Given the description of an element on the screen output the (x, y) to click on. 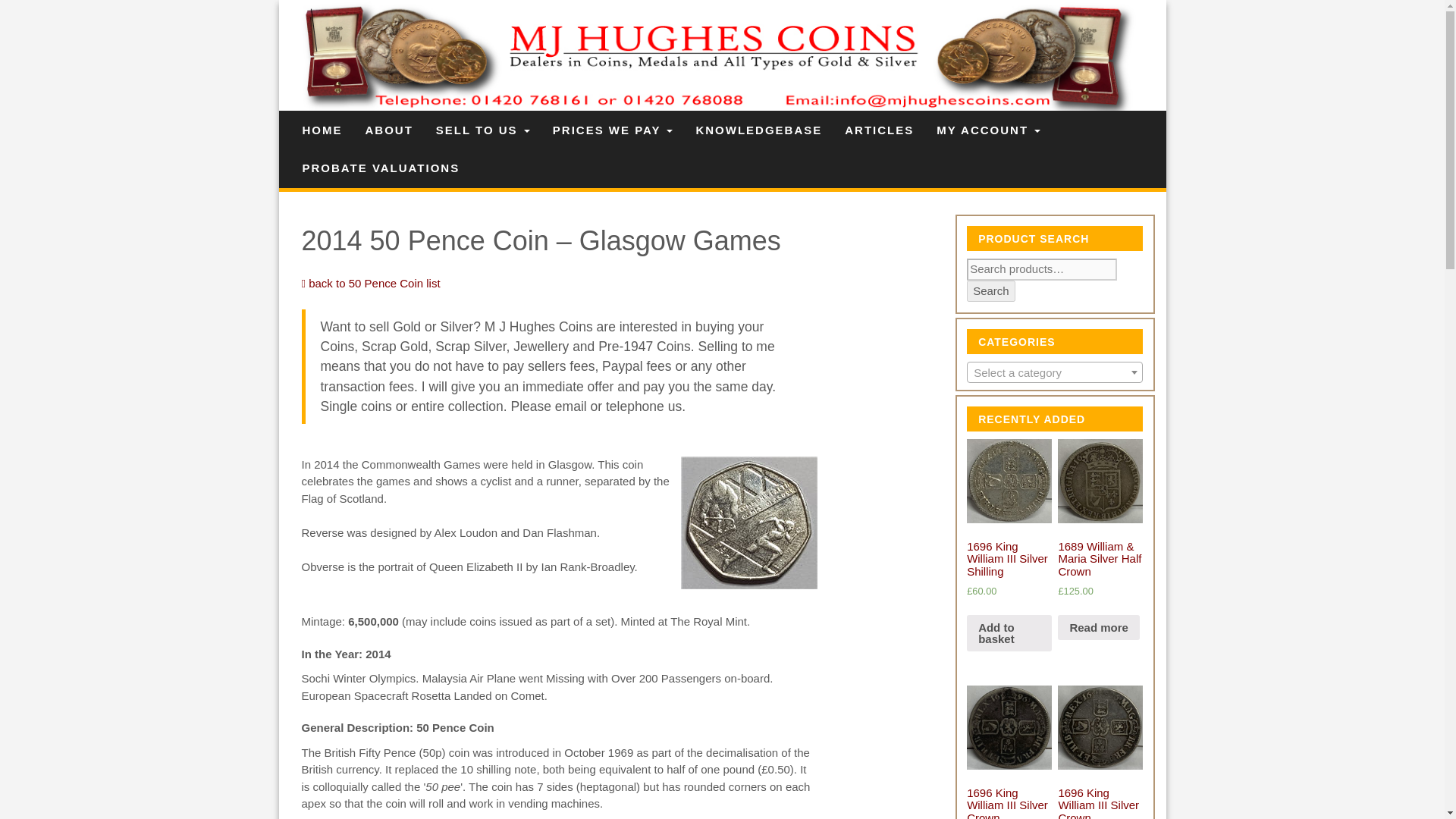
Home (322, 130)
HOME (322, 130)
Prices We Pay (612, 130)
PRICES WE PAY (612, 130)
MY ACCOUNT (987, 130)
KnowledgeBase (758, 130)
ABOUT (388, 130)
About (388, 130)
PROBATE VALUATIONS (381, 168)
ARTICLES (878, 130)
Read more (1099, 627)
Articles (878, 130)
Search (990, 291)
back to 50 Pence Coin list (371, 282)
KNOWLEDGEBASE (758, 130)
